Given the description of an element on the screen output the (x, y) to click on. 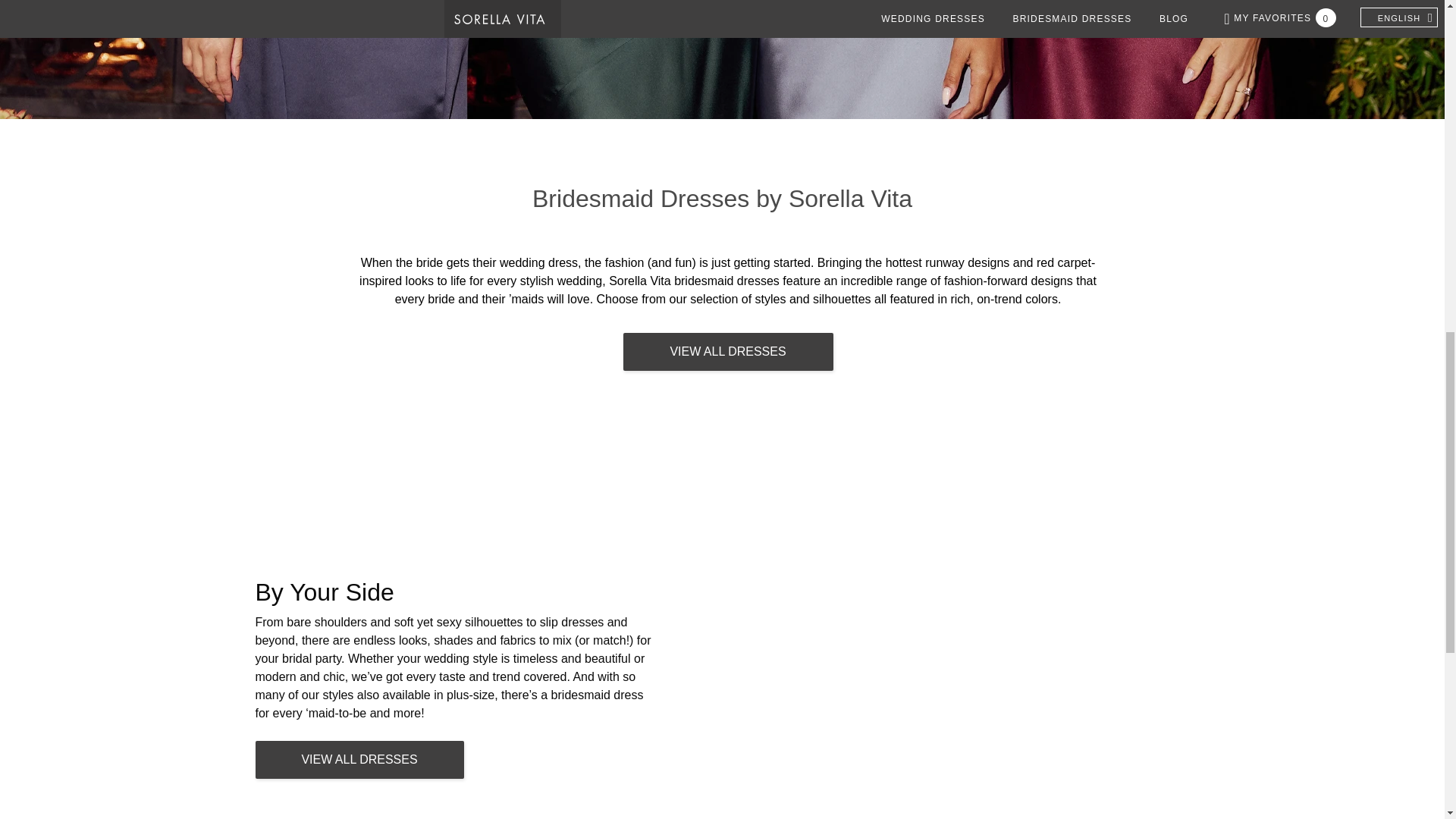
Sorella Vita Bridesmaid Dresses (727, 351)
